Given the description of an element on the screen output the (x, y) to click on. 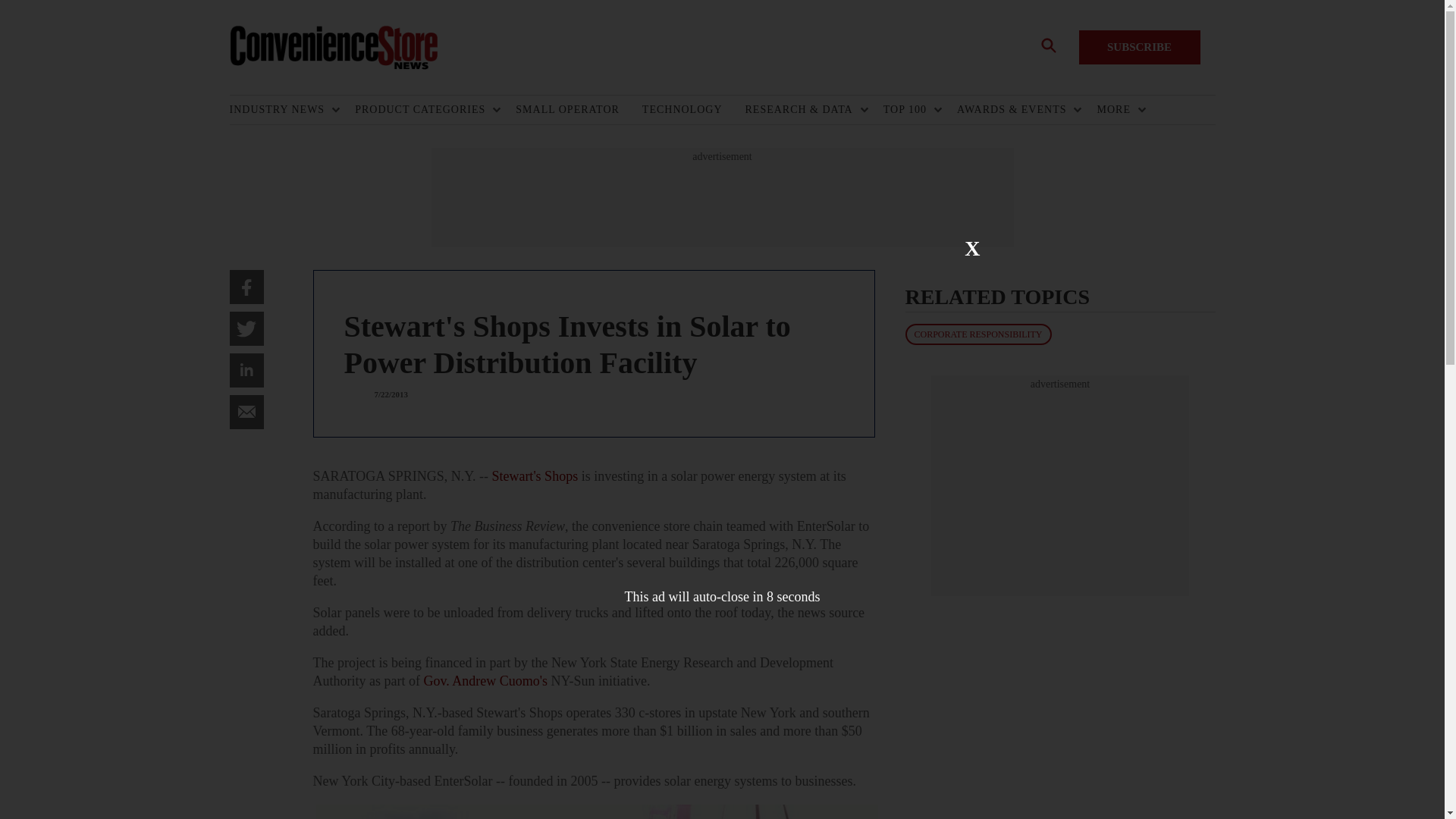
3rd party ad content (1059, 485)
SMALL OPERATOR (578, 109)
facebook (245, 286)
INDUSTRY NEWS (279, 109)
TOP 100 (908, 109)
SUBSCRIBE (1138, 47)
PRODUCT CATEGORIES (424, 109)
linkedIn (245, 369)
3rd party ad content (721, 197)
